Given the description of an element on the screen output the (x, y) to click on. 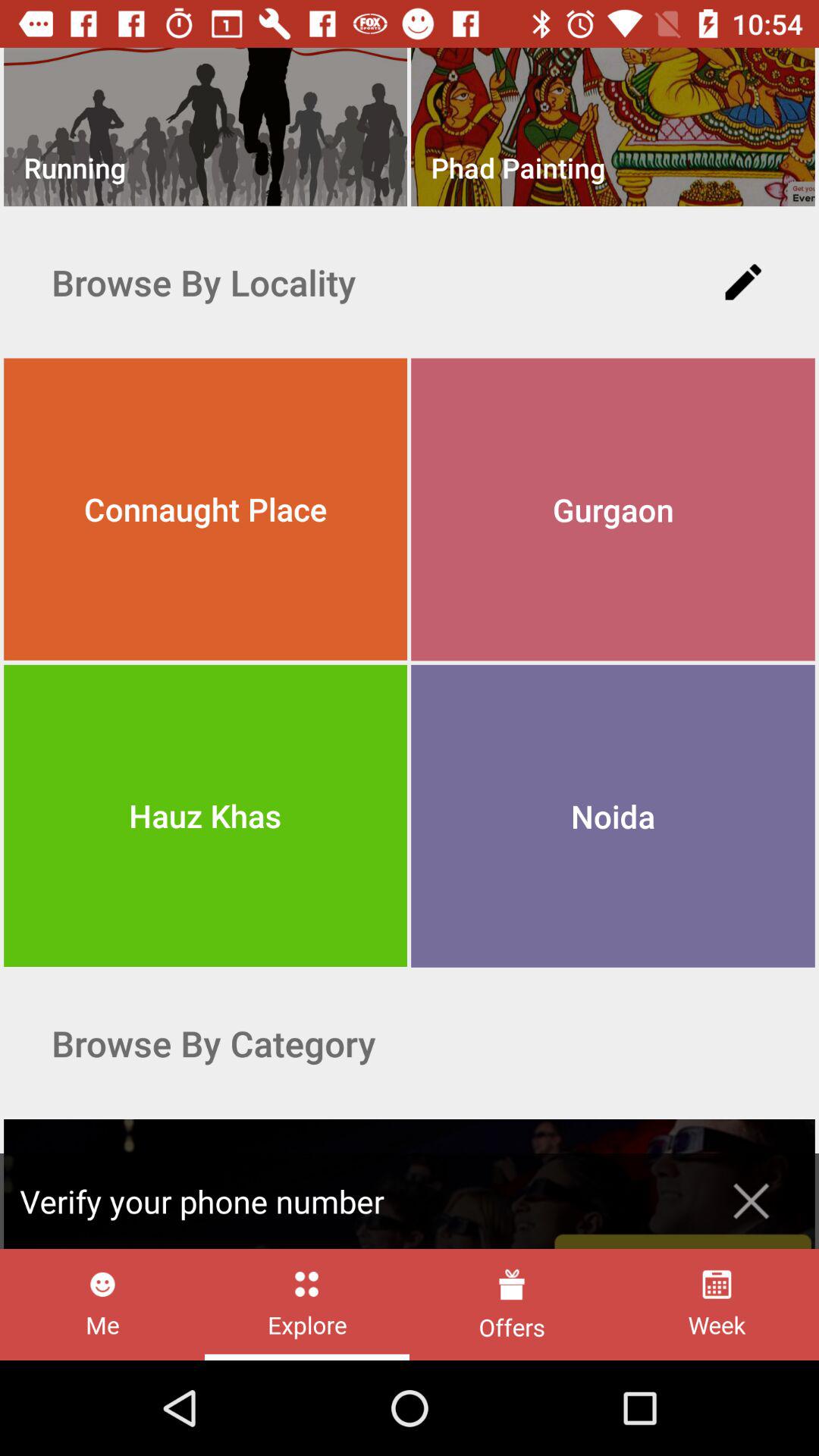
turn on the me item (101, 1304)
